Given the description of an element on the screen output the (x, y) to click on. 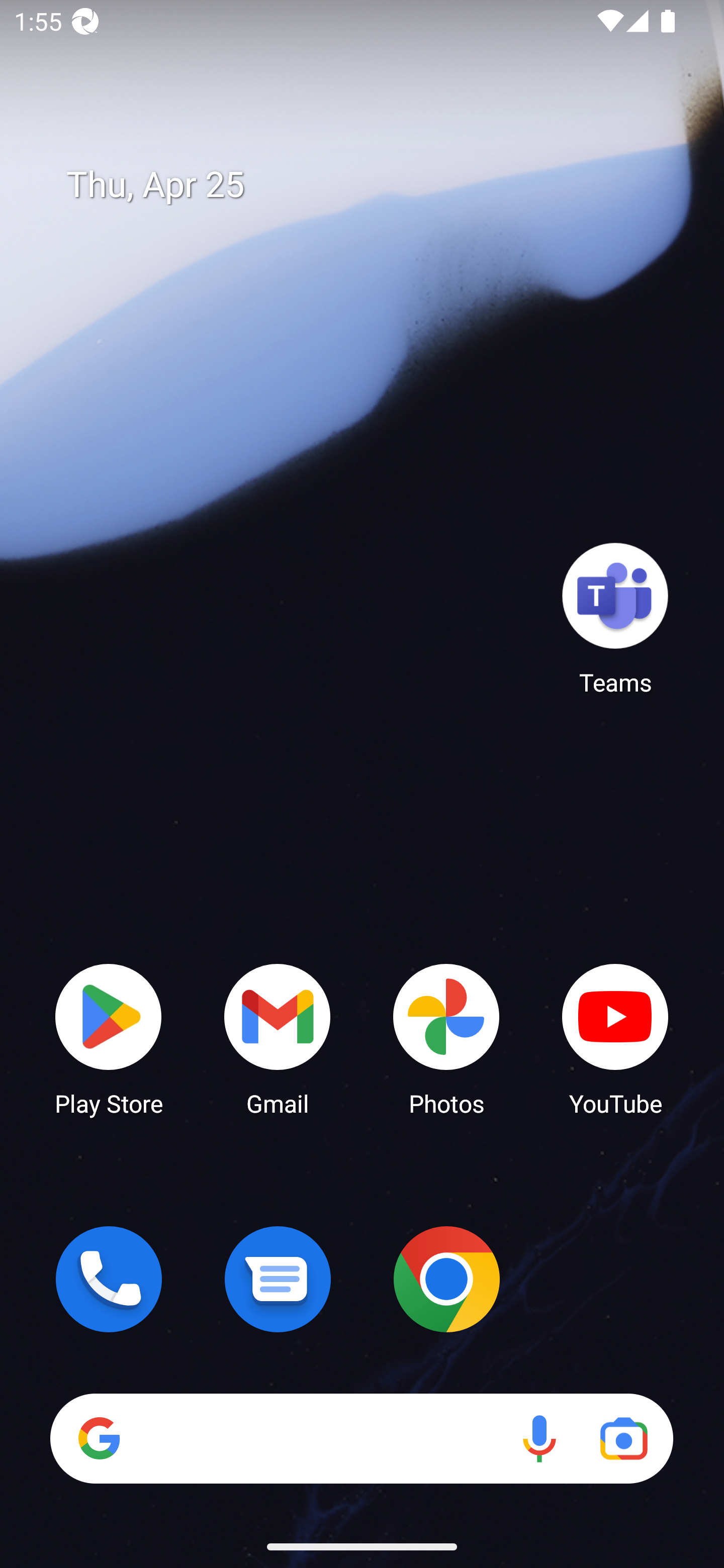
Thu, Apr 25 (375, 184)
Teams (615, 617)
Play Store (108, 1038)
Gmail (277, 1038)
Photos (445, 1038)
YouTube (615, 1038)
Phone (108, 1279)
Messages (277, 1279)
Chrome (446, 1279)
Search Voice search Google Lens (361, 1438)
Voice search (539, 1438)
Google Lens (623, 1438)
